Given the description of an element on the screen output the (x, y) to click on. 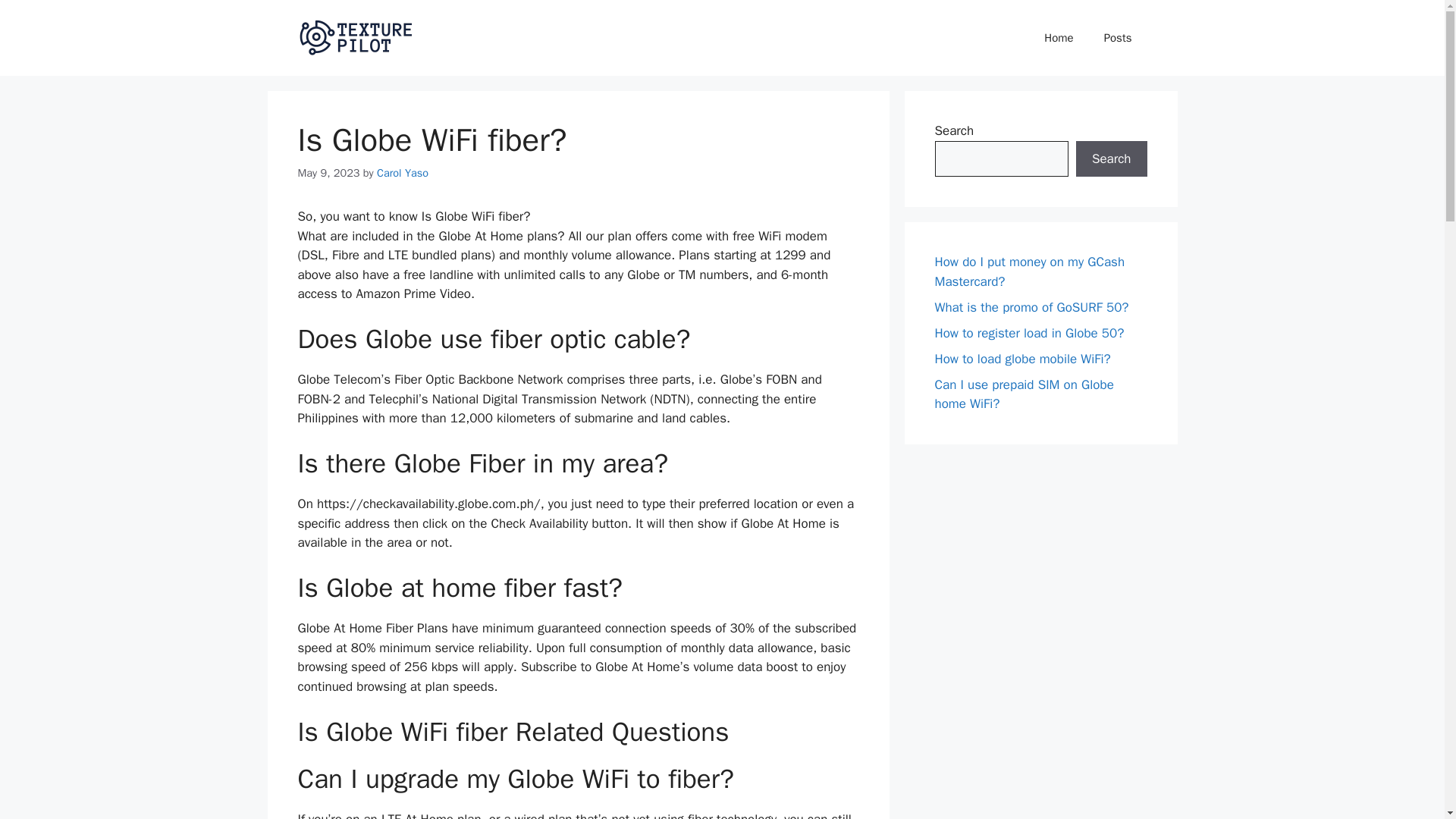
How to load globe mobile WiFi? (1021, 358)
How do I put money on my GCash Mastercard? (1029, 271)
Can I use prepaid SIM on Globe home WiFi? (1023, 393)
What is the promo of GoSURF 50? (1031, 306)
View all posts by Carol Yaso (402, 172)
Posts (1118, 37)
Search (1111, 158)
How to register load in Globe 50? (1029, 332)
Carol Yaso (402, 172)
Home (1058, 37)
